Given the description of an element on the screen output the (x, y) to click on. 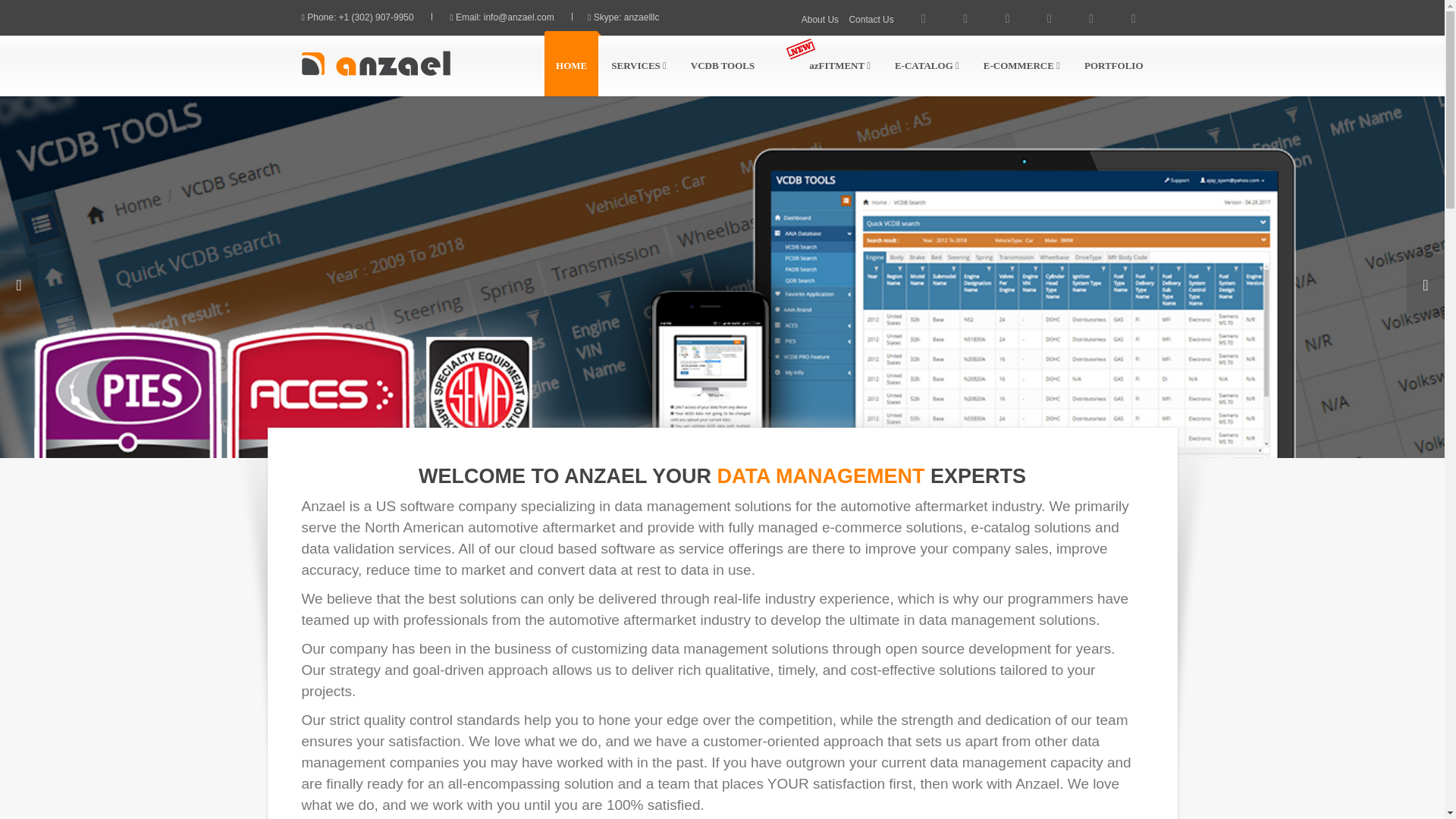
E-CATALOG (927, 63)
PORTFOLIO (1113, 63)
Contact Us (899, 19)
SERVICES (638, 63)
azFITMENT (824, 63)
azFITMENT (839, 65)
VCDB TOOLS (722, 63)
auto parts E-Catalog (375, 63)
E-COMMERCE (1021, 63)
About Us (820, 19)
E-COMMERCE (1021, 63)
E-CATALOG (927, 63)
About Us (848, 19)
VCDB TOOLS (722, 63)
SERVICES (638, 63)
